Given the description of an element on the screen output the (x, y) to click on. 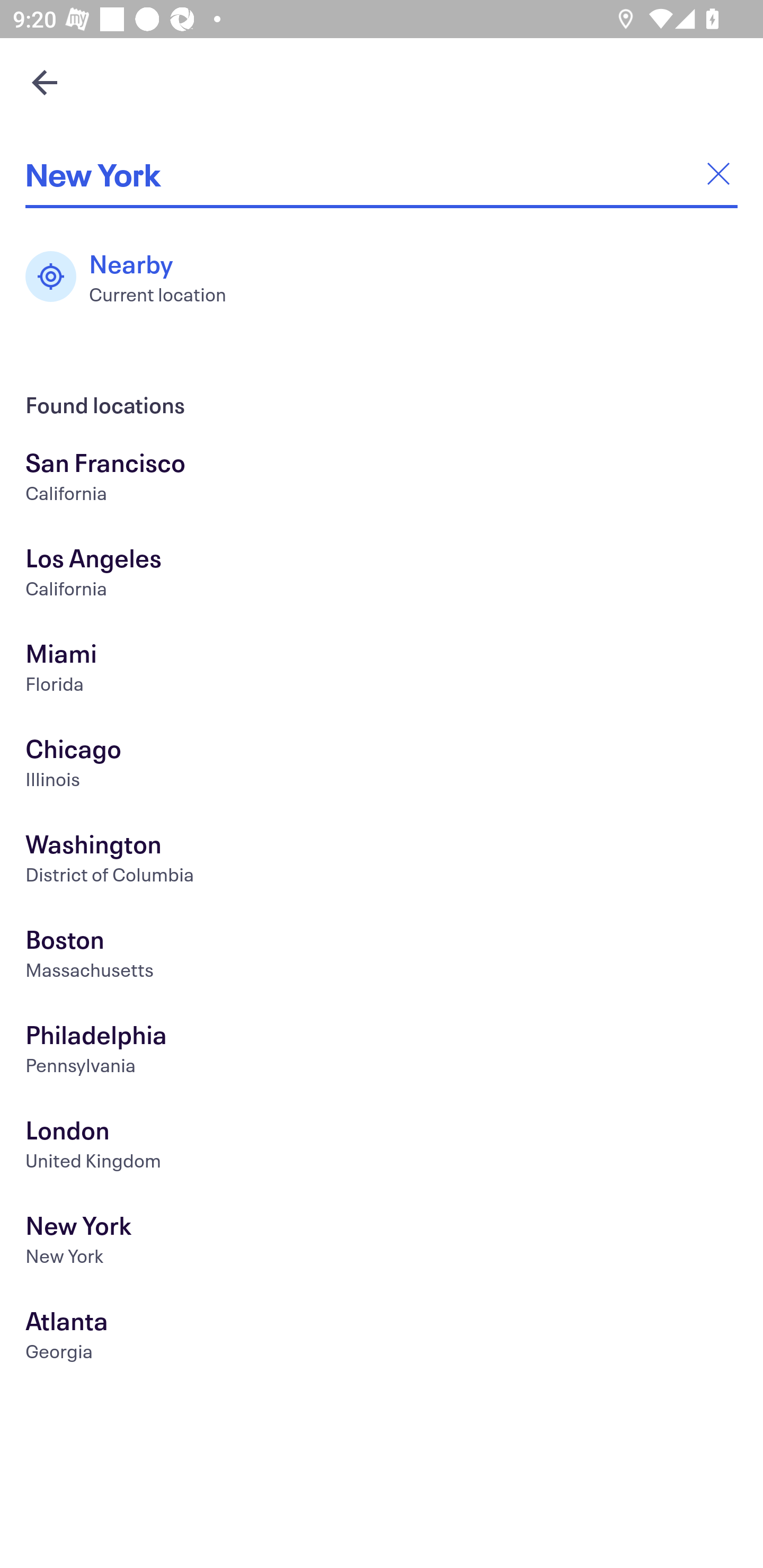
Navigate up (44, 82)
New York (381, 173)
Nearby Current location (135, 276)
San Francisco California (381, 479)
Los Angeles California (381, 574)
Miami Florida (381, 670)
Chicago Illinois (381, 765)
Washington District of Columbia (381, 861)
Boston Massachusetts (381, 955)
Philadelphia Pennsylvania (381, 1051)
London United Kingdom (381, 1146)
New York (381, 1242)
Atlanta Georgia (381, 1338)
